Given the description of an element on the screen output the (x, y) to click on. 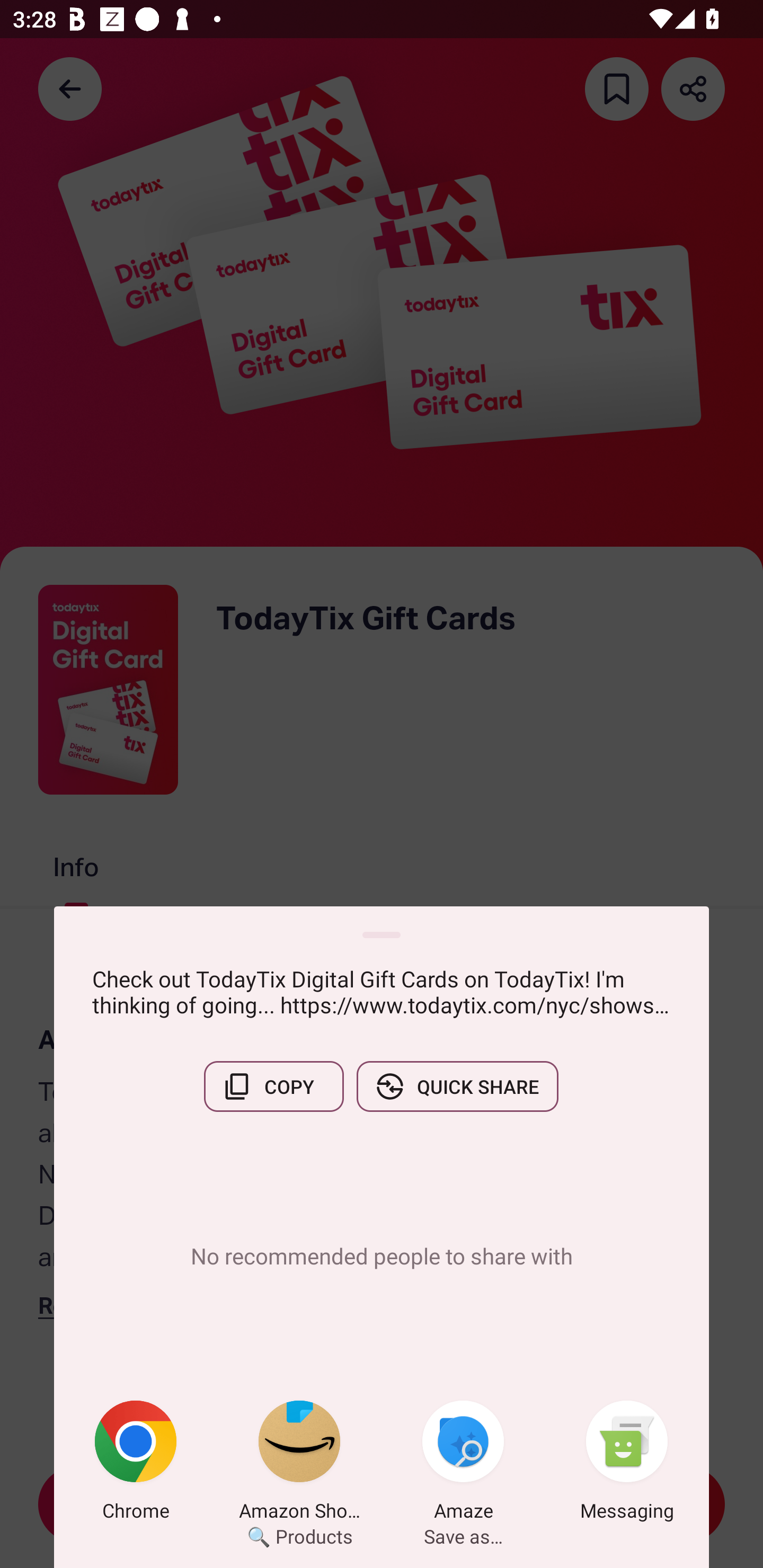
COPY (273, 1086)
QUICK SHARE (457, 1086)
Chrome (135, 1463)
Amazon Shopping 🔍 Products (299, 1463)
Amaze Save as… (463, 1463)
Messaging (626, 1463)
